Given the description of an element on the screen output the (x, y) to click on. 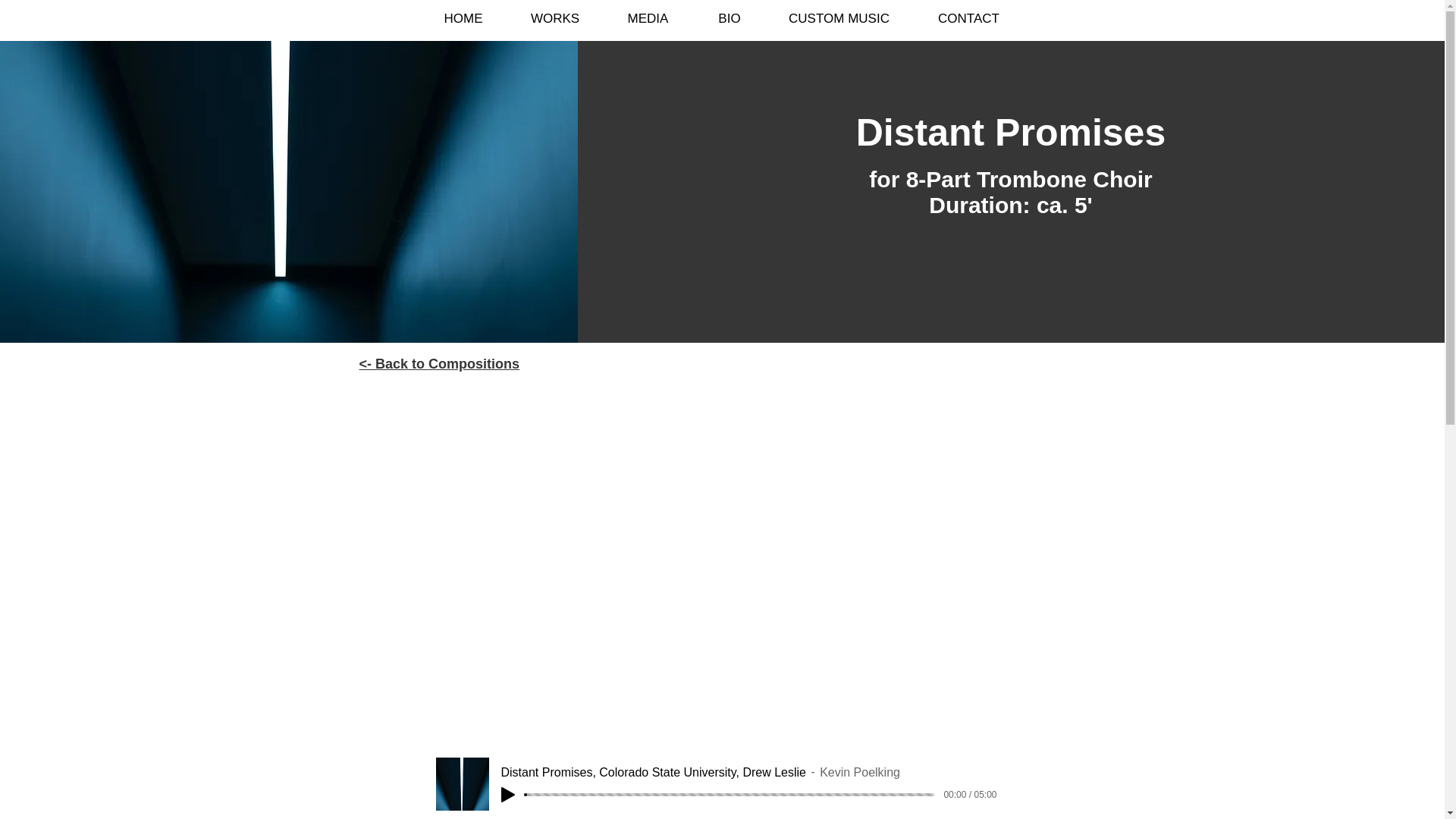
BIO (729, 18)
MEDIA (647, 18)
CONTACT (968, 18)
HOME (462, 18)
0 (729, 794)
WORKS (555, 18)
CUSTOM MUSIC (838, 18)
